Given the description of an element on the screen output the (x, y) to click on. 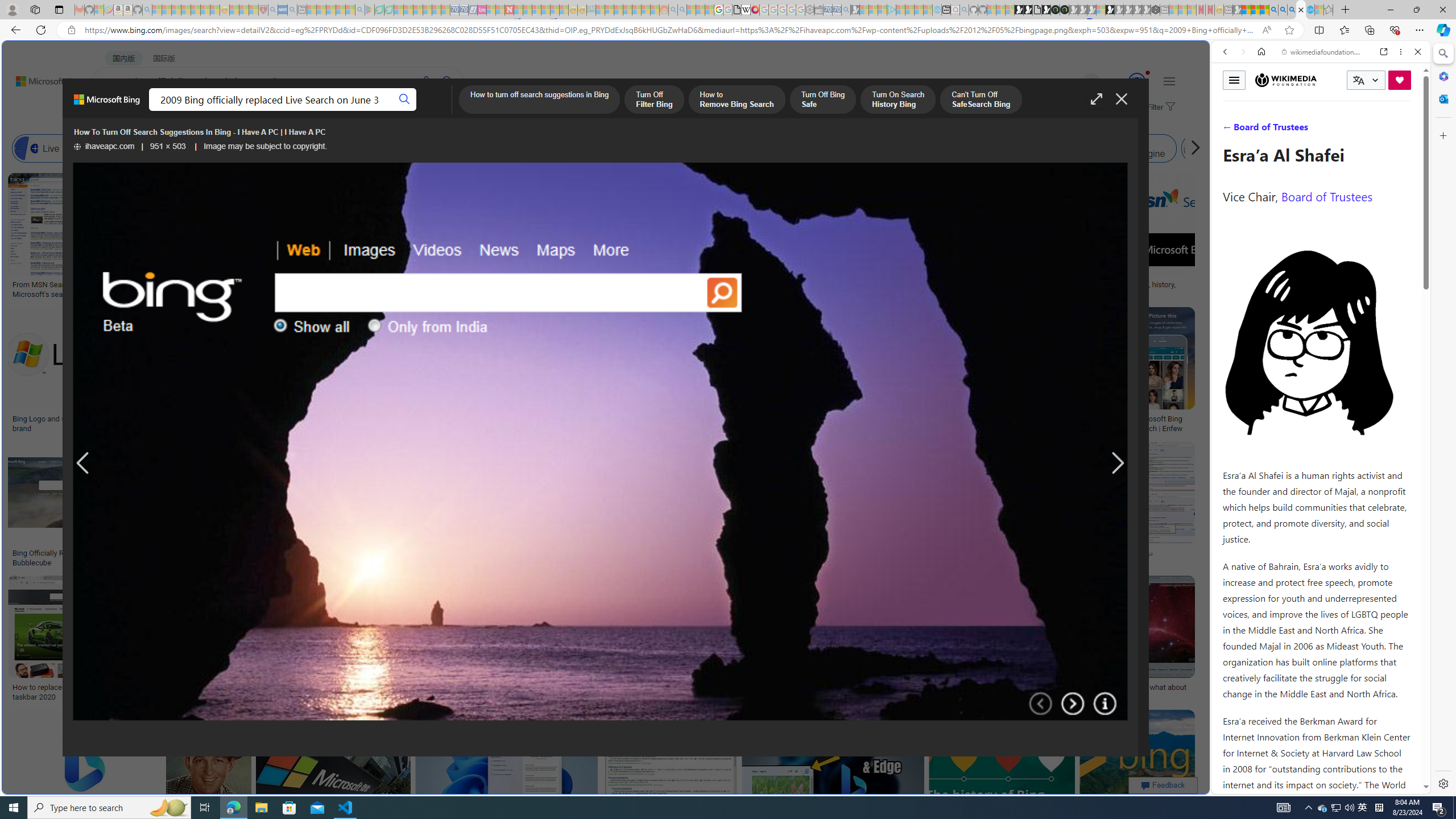
Search the web (1326, 78)
Live Search (25, 148)
utah sues federal government - Search (922, 389)
How to replace Bing in Windows 10 search on the taskbar 2020 (93, 691)
WEB (114, 111)
Technology History timeline | Timetoast timelines (833, 289)
Bing Word Search (368, 148)
